Given the description of an element on the screen output the (x, y) to click on. 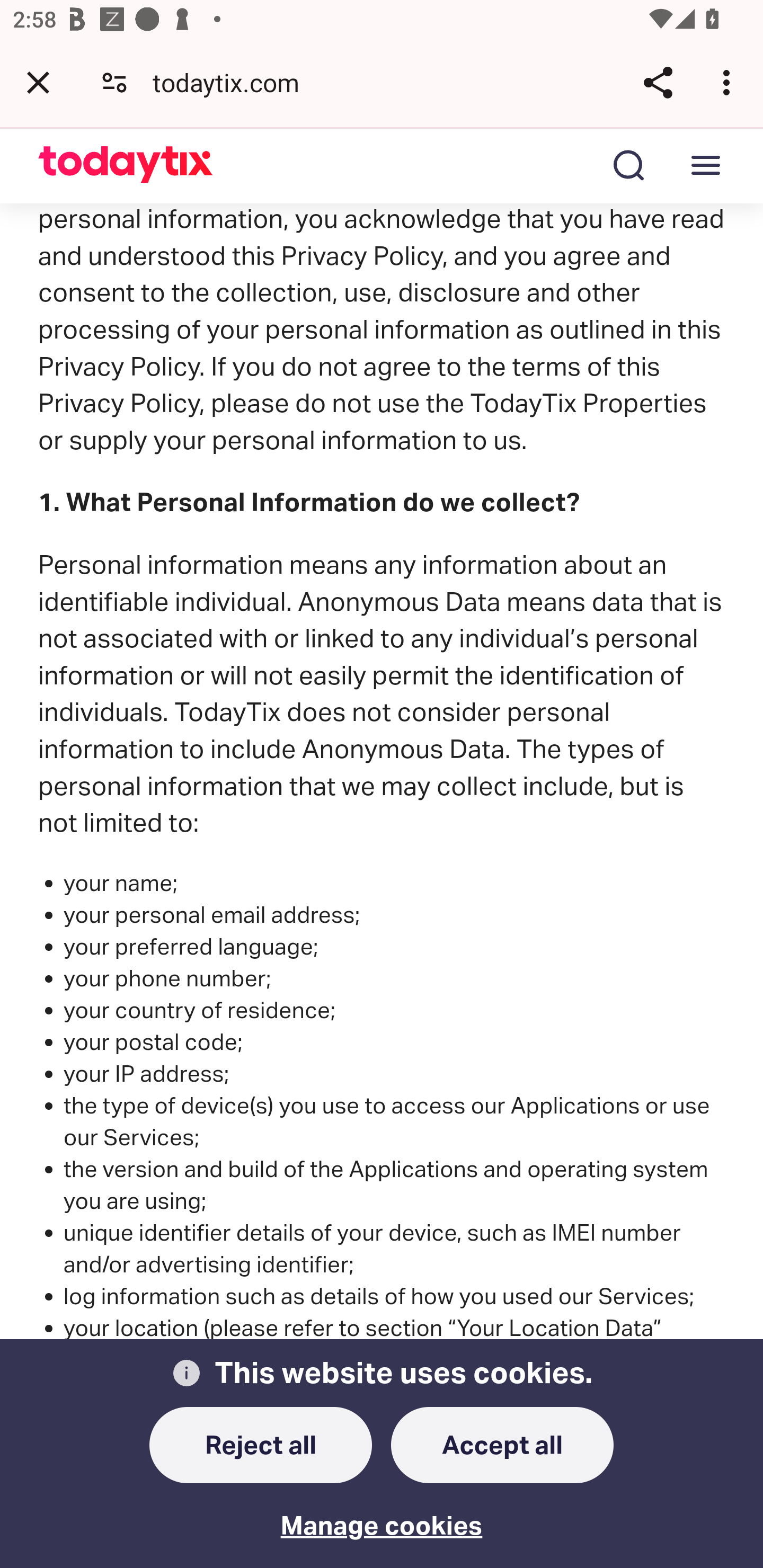
Close tab (38, 82)
Share (657, 82)
Customize and control Google Chrome (729, 82)
Connection is secure (114, 81)
todaytix.com (232, 81)
TodayTix Logo (126, 165)
Reject all (260, 1445)
Accept all (501, 1445)
Manage cookies (381, 1513)
